Given the description of an element on the screen output the (x, y) to click on. 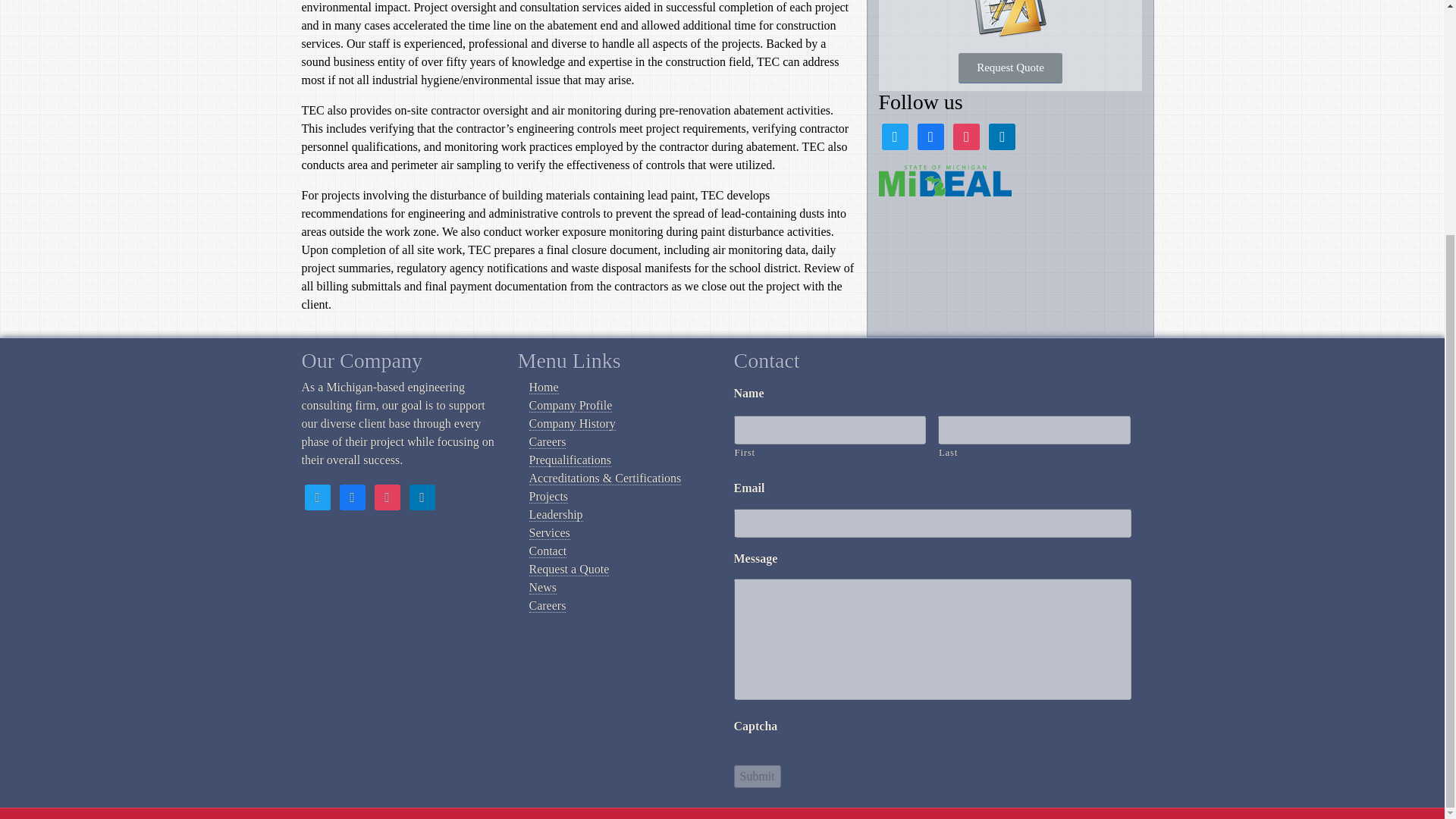
Careers (547, 441)
Twitter (893, 135)
Request Quote (1010, 68)
Facebook (930, 135)
Submit (756, 775)
Home (544, 386)
Prequalifications (570, 459)
LinkedIn (422, 496)
Instagram (966, 135)
Company History (572, 423)
Twitter (317, 496)
Facebook (352, 496)
LinkedIn (1001, 135)
Company Profile (570, 405)
Instagram (387, 496)
